Given the description of an element on the screen output the (x, y) to click on. 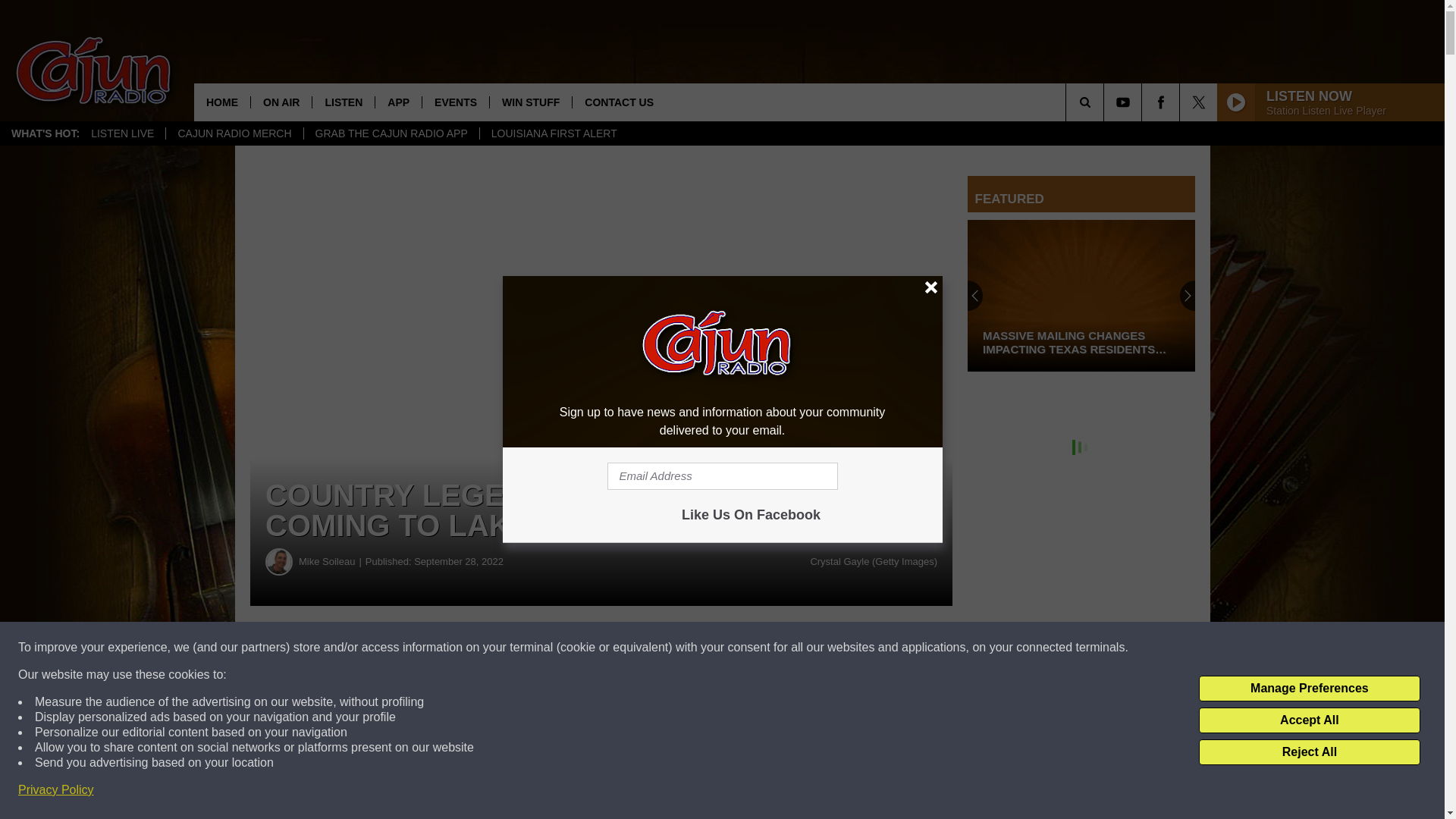
Manage Preferences (1309, 688)
ON AIR (280, 102)
GRAB THE CAJUN RADIO APP (390, 133)
APP (398, 102)
CONTACT US (618, 102)
CAJUN RADIO MERCH (233, 133)
SEARCH (1106, 102)
LISTEN LIVE (122, 133)
LISTEN (342, 102)
Share on Facebook (460, 647)
Email Address (722, 475)
Privacy Policy (55, 789)
EVENTS (455, 102)
Share on Twitter (741, 647)
HOME (221, 102)
